Given the description of an element on the screen output the (x, y) to click on. 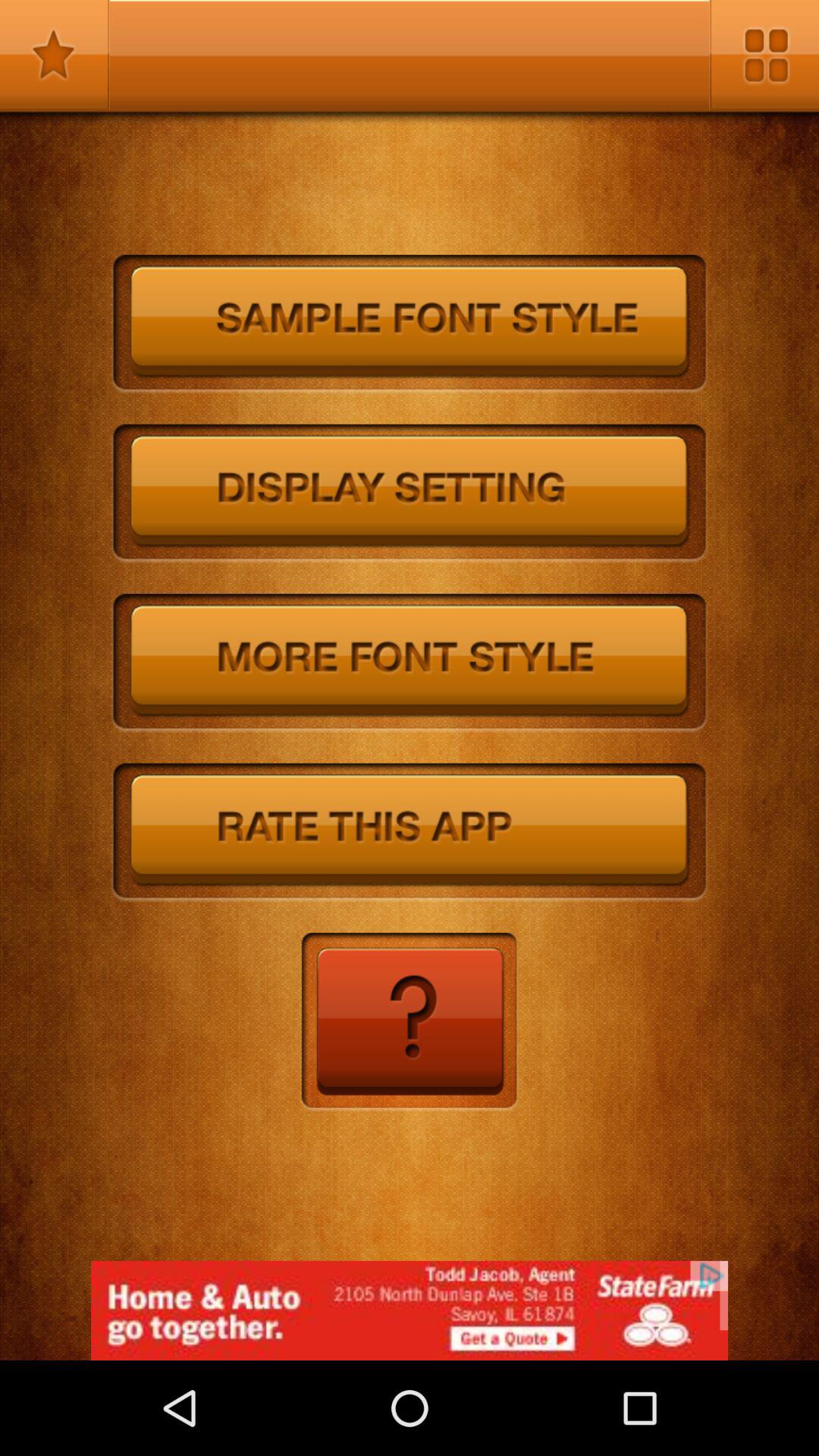
select the add (409, 1310)
